Given the description of an element on the screen output the (x, y) to click on. 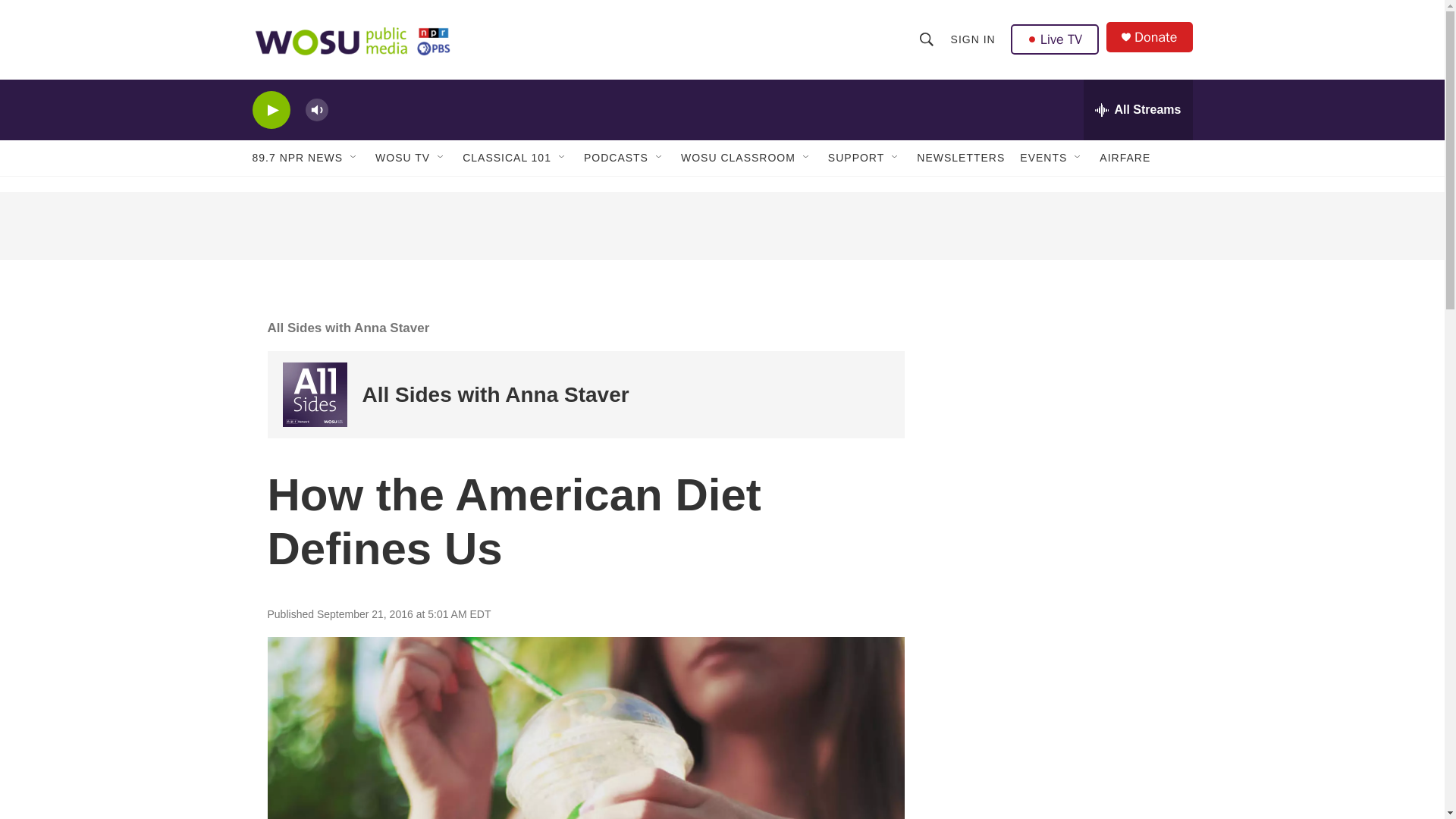
3rd party ad content (1062, 619)
3rd party ad content (721, 225)
3rd party ad content (1062, 400)
